Given the description of an element on the screen output the (x, y) to click on. 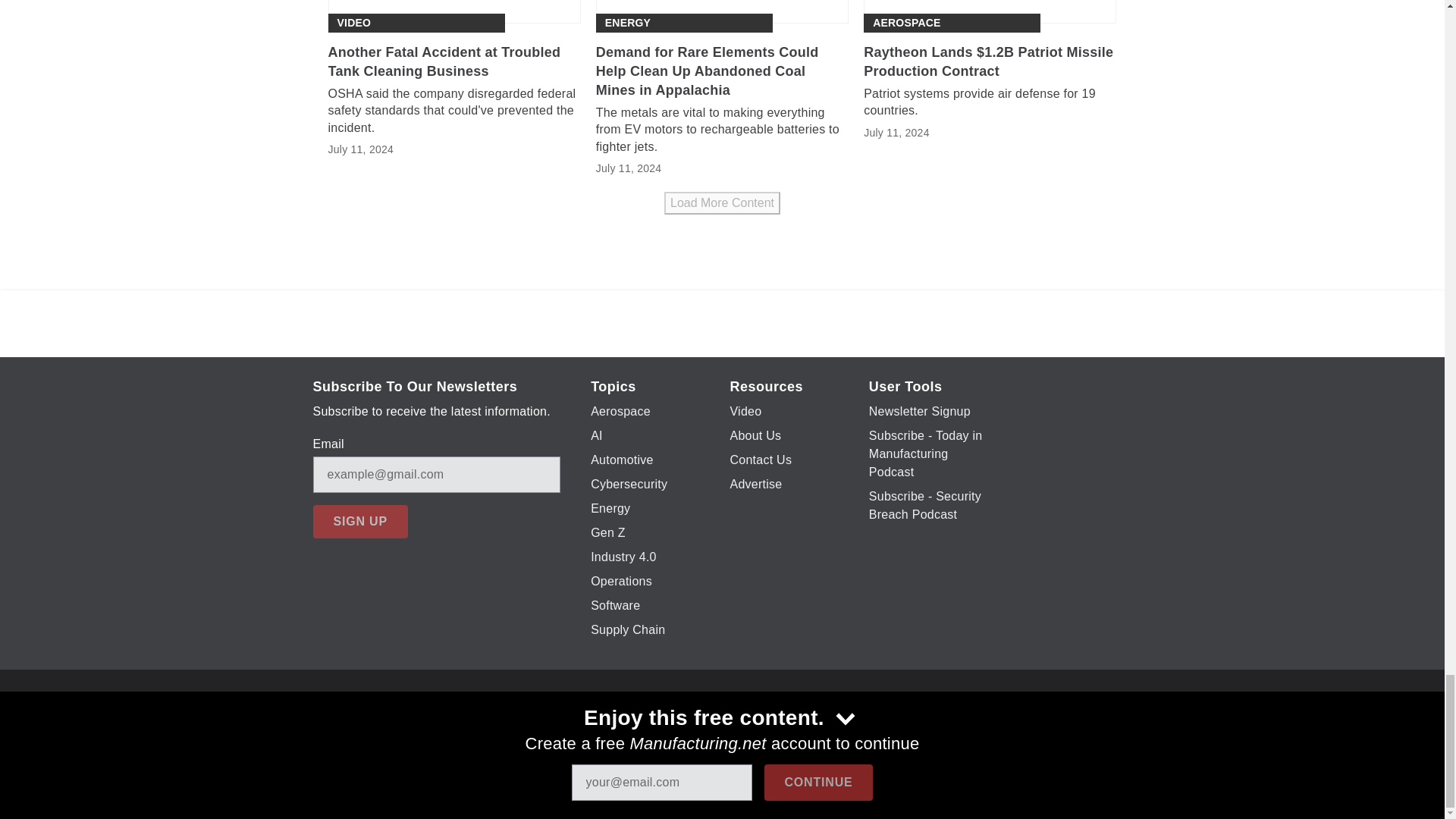
Facebook icon (656, 727)
LinkedIn icon (775, 727)
YouTube icon (735, 727)
Twitter X icon (696, 727)
